Given the description of an element on the screen output the (x, y) to click on. 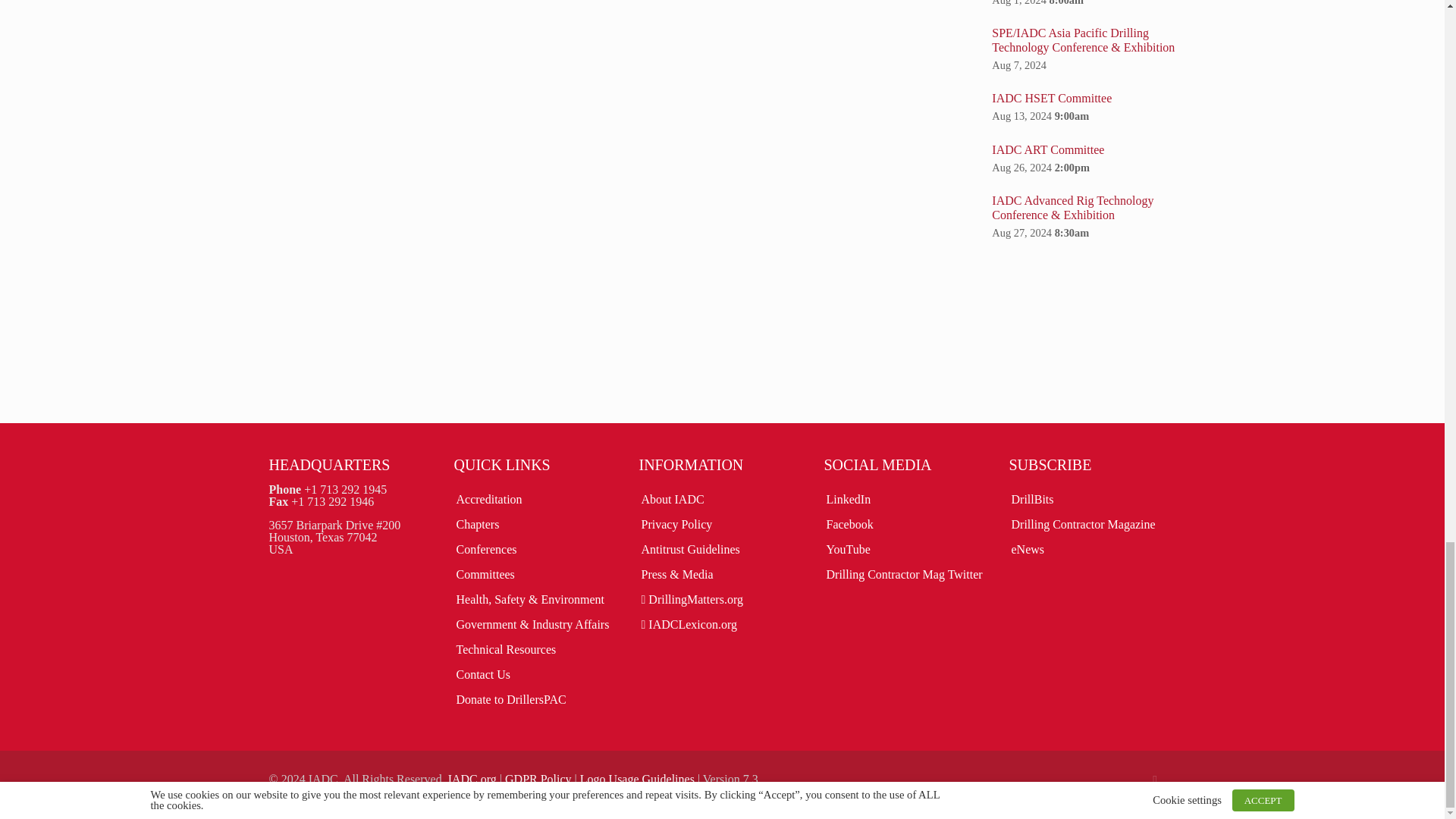
RSS (1155, 779)
International Association of Drilling Contractors (472, 779)
